Given the description of an element on the screen output the (x, y) to click on. 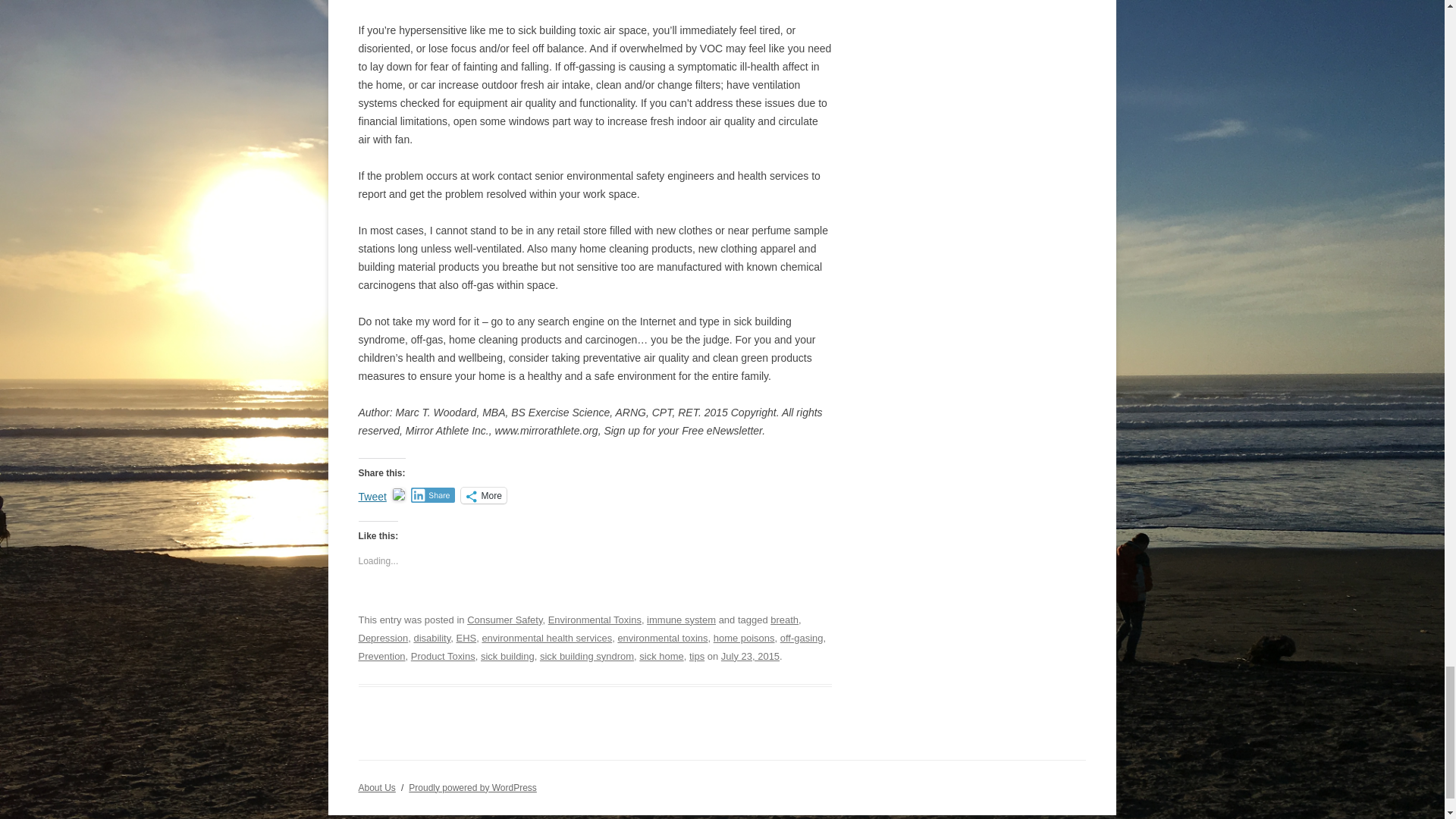
immune system (681, 619)
Consumer Safety (504, 619)
Environmental Toxins (595, 619)
More (483, 495)
Tweet (371, 494)
Share (432, 494)
